Given the description of an element on the screen output the (x, y) to click on. 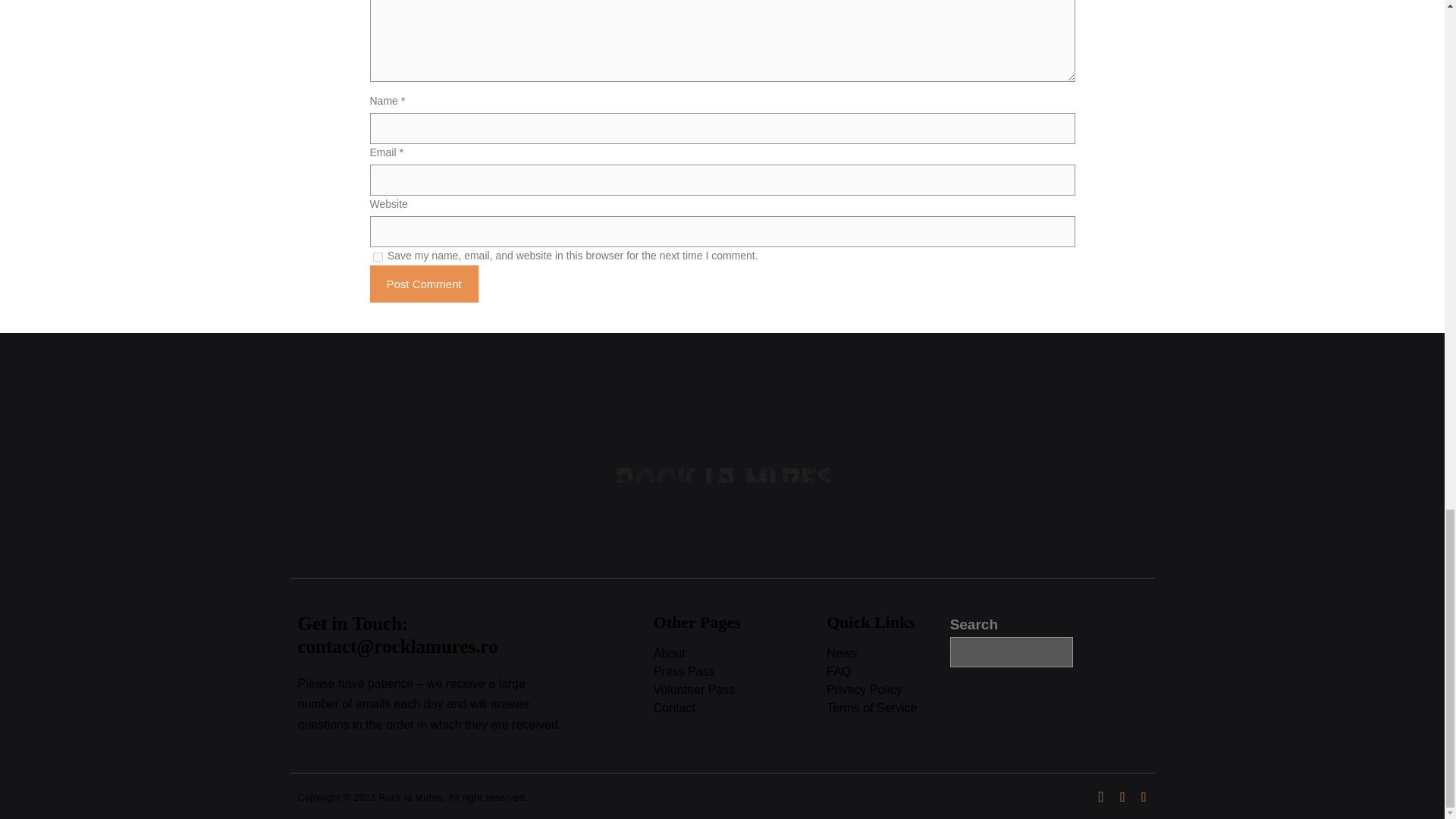
Press Pass (740, 671)
Post Comment (424, 284)
About (740, 653)
Terms of Service (888, 707)
Volunteer Pass (740, 689)
Post Comment (424, 284)
FAQ (888, 671)
Contact (740, 707)
Privacy Policy (888, 689)
News (888, 653)
